Given the description of an element on the screen output the (x, y) to click on. 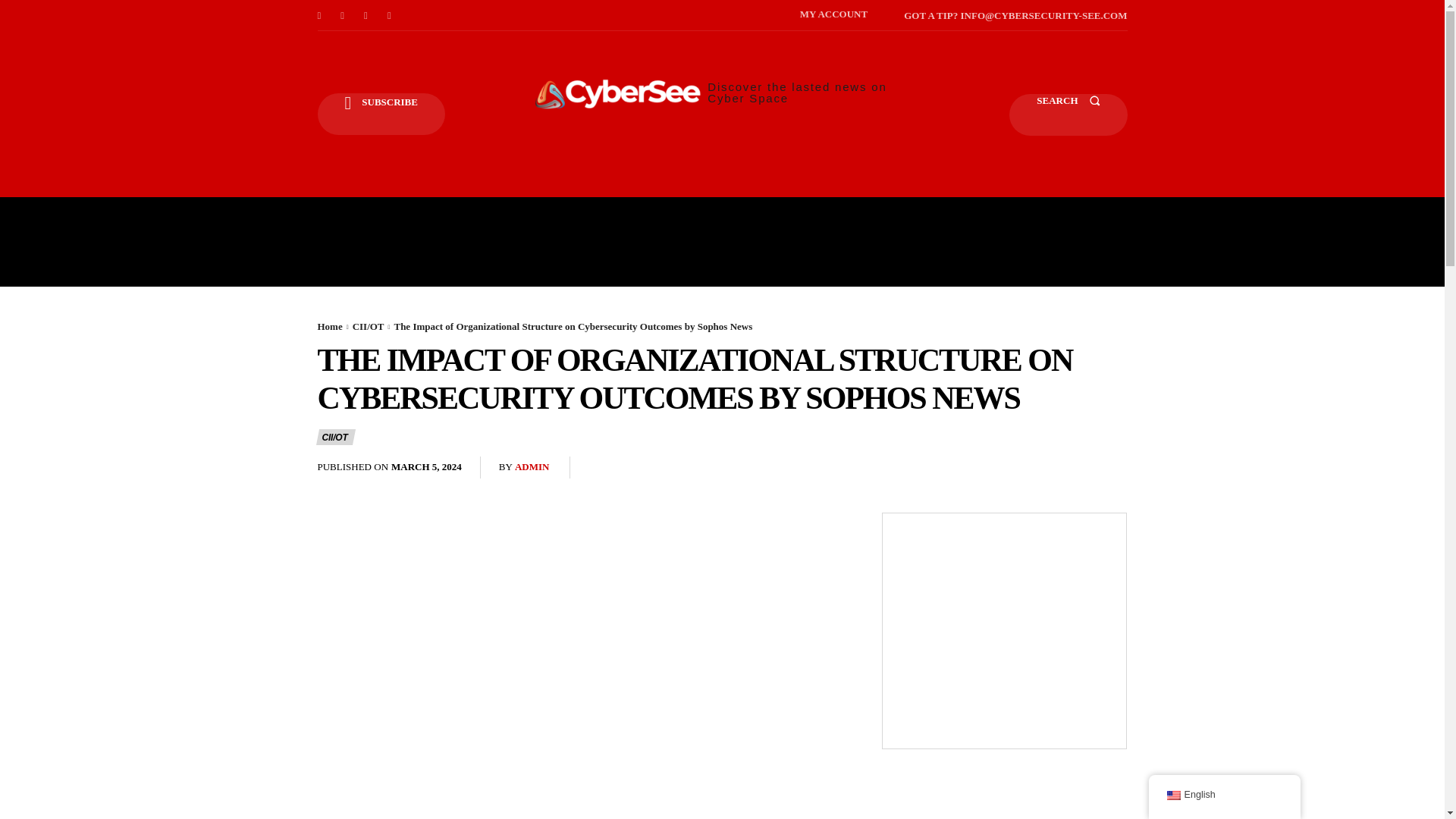
Facebook (318, 15)
Twitter (389, 15)
Home (329, 326)
TikTok (366, 15)
Discover the lasted news on Cyber Space (722, 91)
SEARCH (1067, 114)
Subscribe (380, 114)
ADMIN (532, 467)
Instagram (342, 15)
Search (1067, 114)
SUBSCRIBE (380, 114)
